Given the description of an element on the screen output the (x, y) to click on. 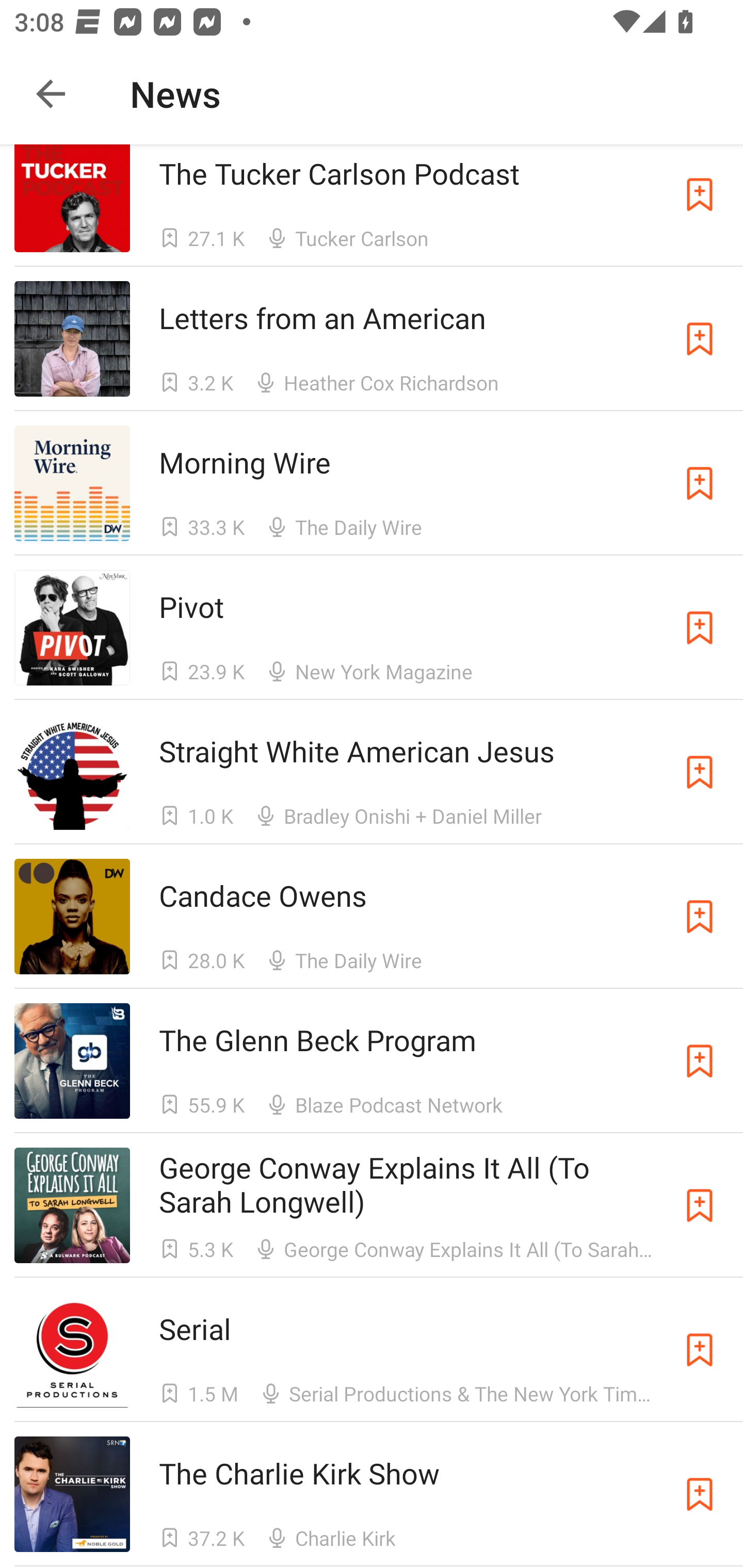
Navigate up (50, 93)
Subscribe (699, 198)
Subscribe (699, 338)
Subscribe (699, 482)
Pivot Pivot  23.9 K  New York Magazine Subscribe (371, 627)
Subscribe (699, 627)
Subscribe (699, 772)
Subscribe (699, 916)
Subscribe (699, 1060)
Subscribe (699, 1205)
Subscribe (699, 1350)
Subscribe (699, 1494)
